Given the description of an element on the screen output the (x, y) to click on. 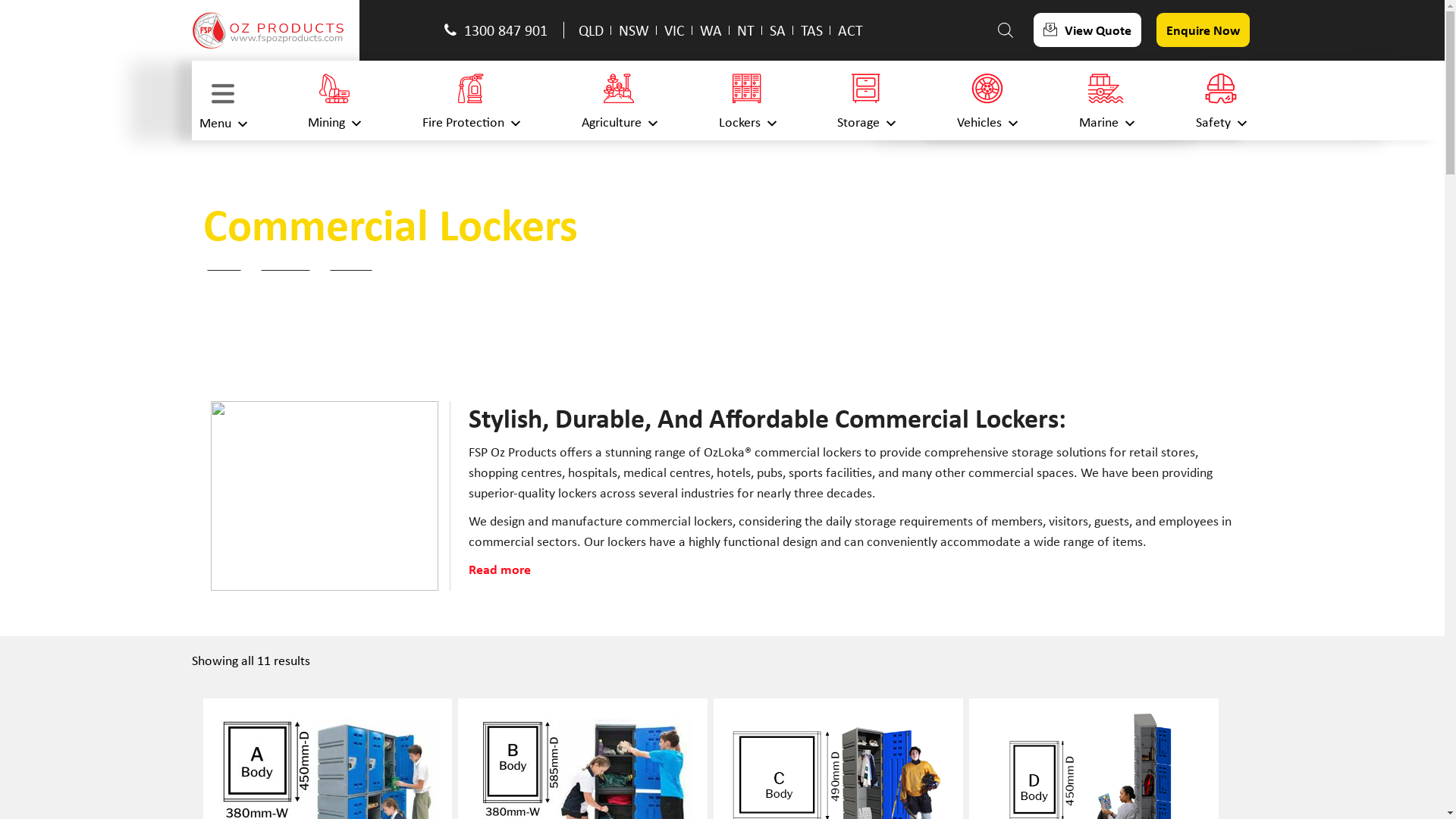
QLD Element type: text (590, 29)
Lockers Element type: text (747, 99)
Mining Element type: text (333, 99)
Lockers Element type: text (350, 263)
TAS Element type: text (811, 29)
  1300 847 901 Element type: text (500, 29)
WA Element type: text (710, 29)
Vehicles Element type: text (986, 99)
Fire Protection Element type: text (470, 99)
VIC Element type: text (674, 29)
Safety Element type: text (1219, 99)
Home Element type: text (223, 263)
Marine Element type: text (1106, 99)
NSW Element type: text (633, 29)
Products Element type: text (285, 263)
Enquire Now Element type: text (1202, 29)
Agriculture Element type: text (619, 99)
ACT Element type: text (849, 29)
SA Element type: text (777, 29)
Menu Element type: text (222, 100)
View Quote Element type: text (1087, 29)
NT Element type: text (745, 29)
Storage Element type: text (865, 99)
